Given the description of an element on the screen output the (x, y) to click on. 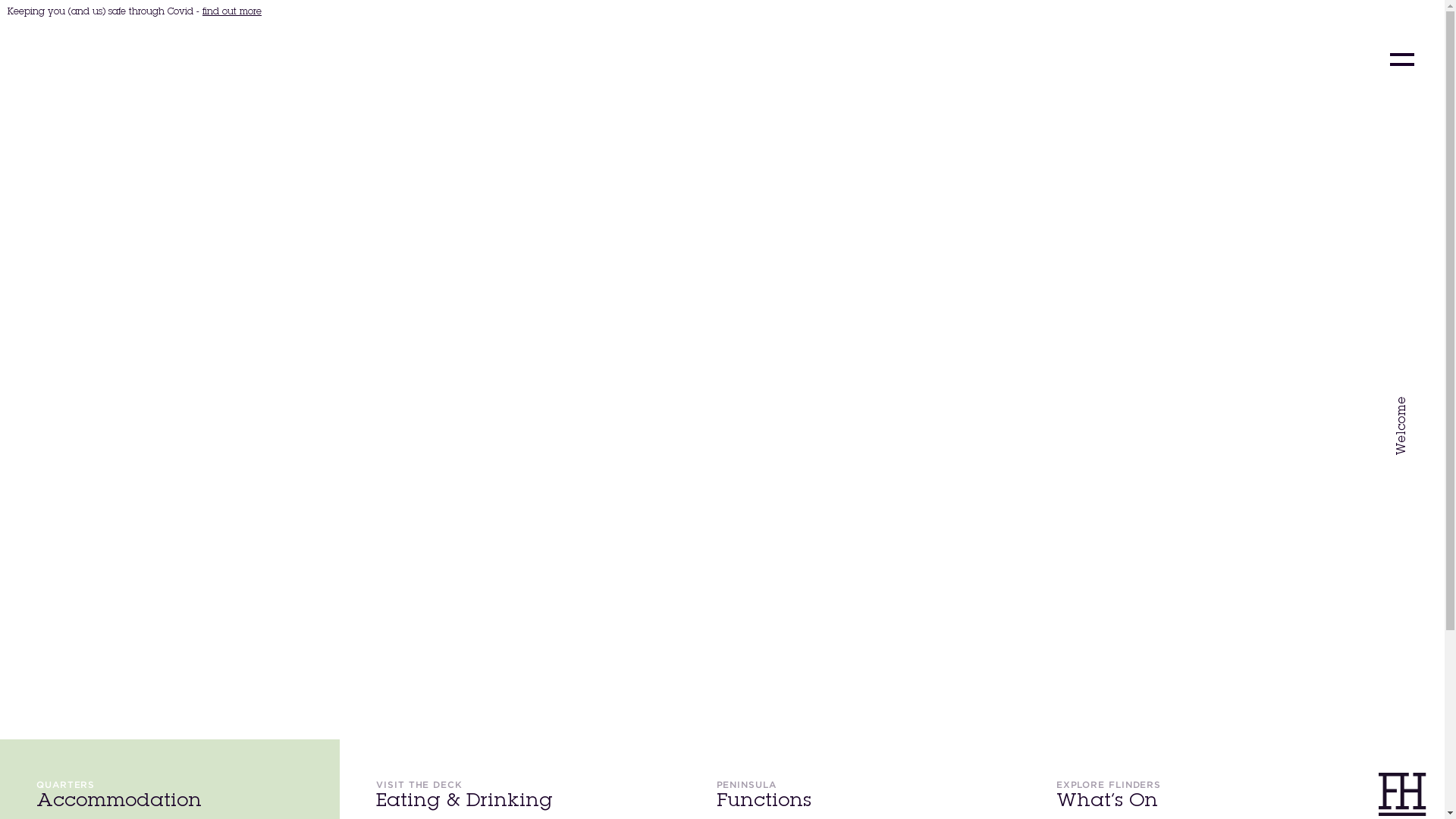
Flinders Hotel Element type: text (132, 58)
SEE MORE Element type: text (78, 631)
find out more Element type: text (231, 11)
